Given the description of an element on the screen output the (x, y) to click on. 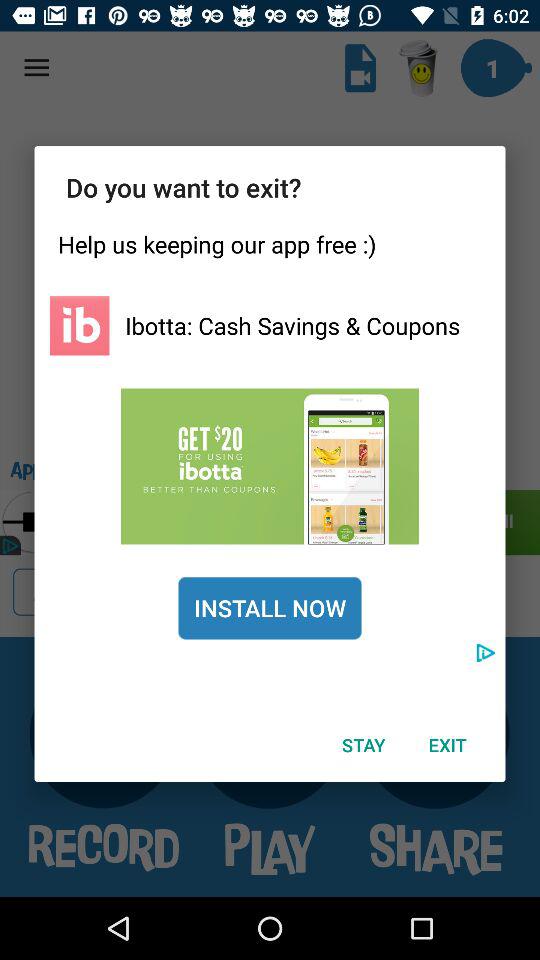
jump until the stay icon (363, 744)
